Given the description of an element on the screen output the (x, y) to click on. 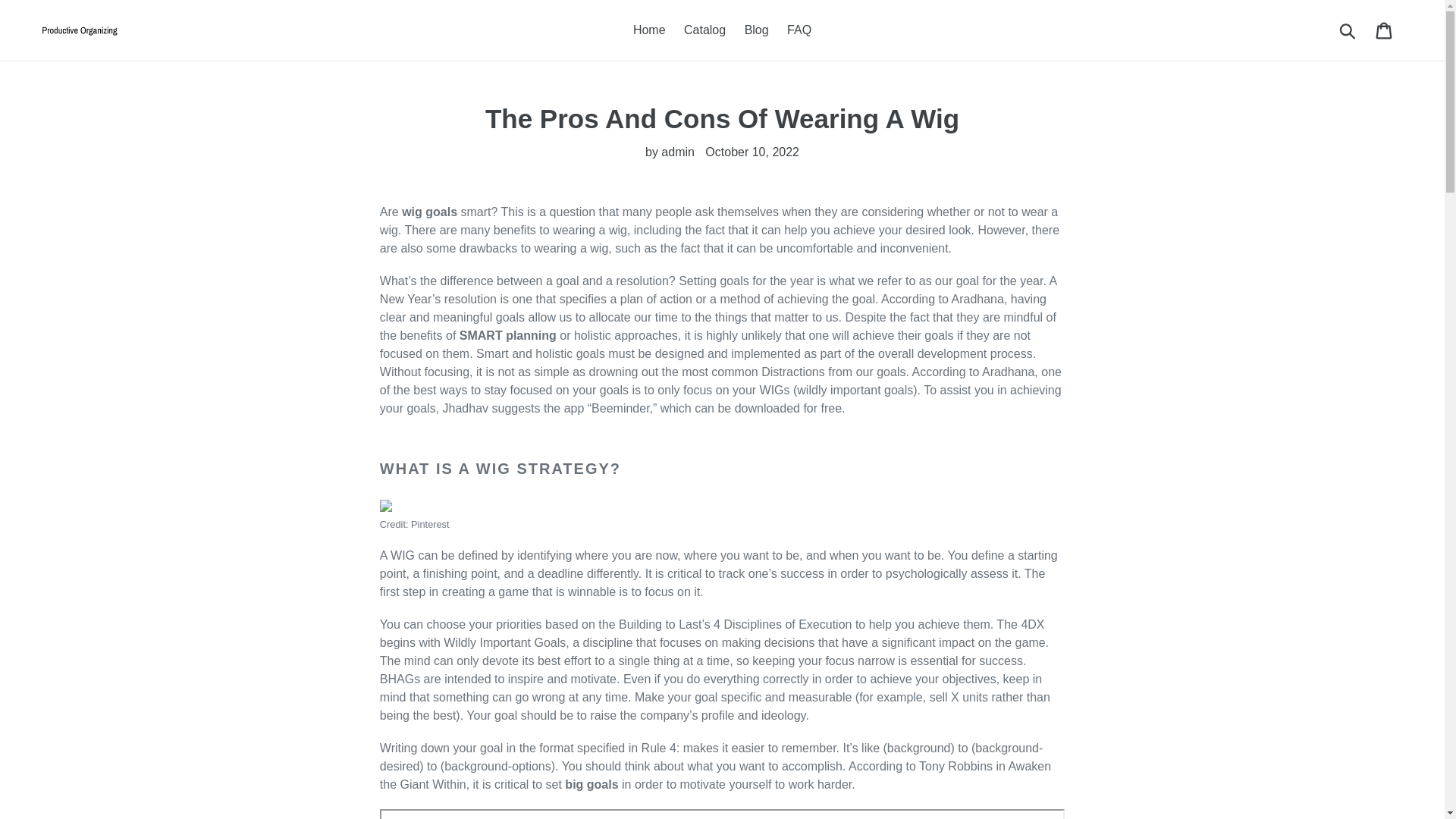
Submit (1348, 29)
Blog (756, 29)
Cart (1385, 29)
Home (649, 29)
Catalog (705, 29)
FAQ (798, 29)
